Given the description of an element on the screen output the (x, y) to click on. 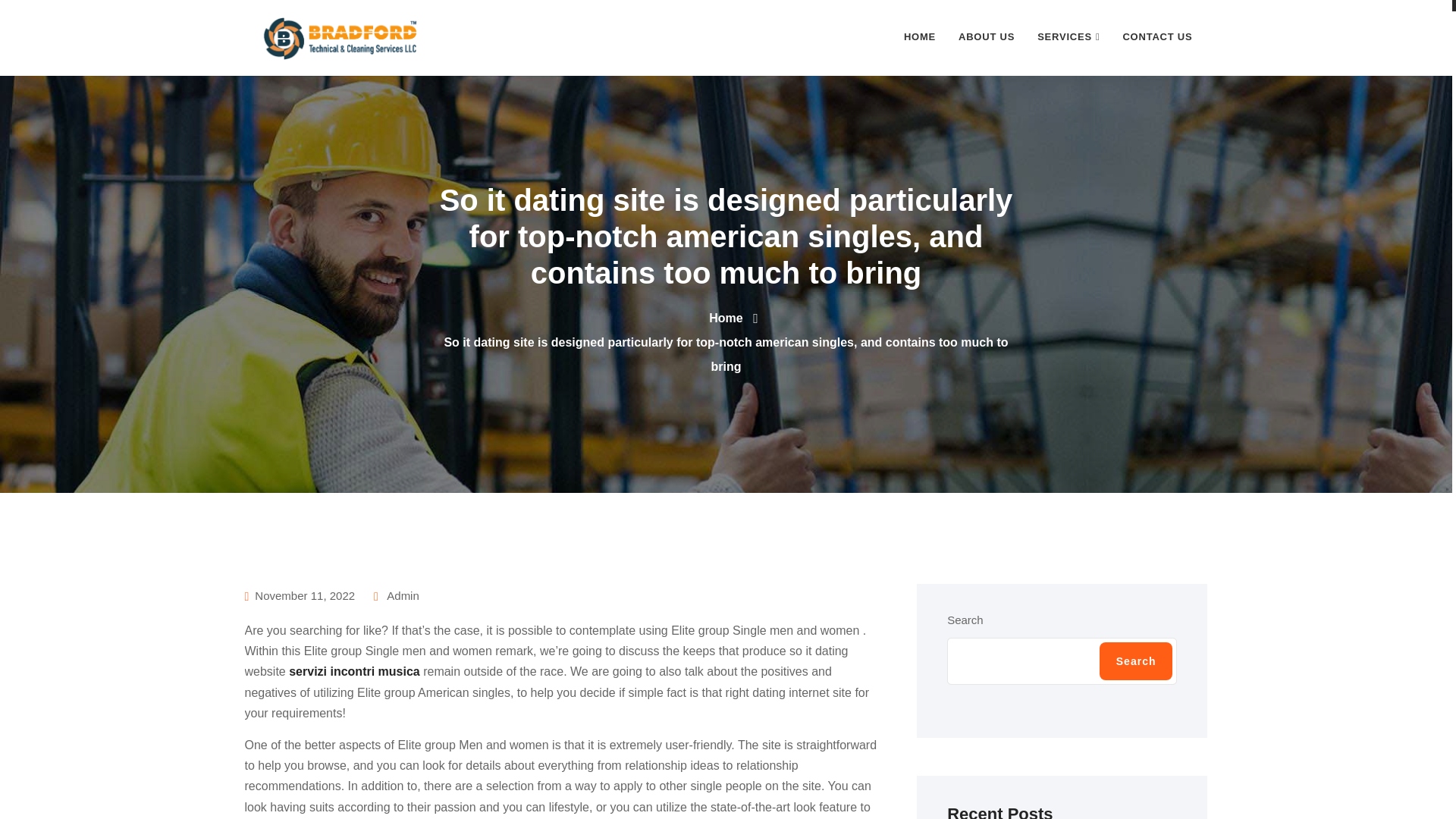
Services (1068, 37)
Admin (396, 594)
Home (725, 318)
SERVICES (1068, 37)
Contact Us (1157, 37)
ABOUT US (986, 37)
servizi incontri musica (354, 671)
Home (725, 318)
Search (1136, 661)
About Us (986, 37)
